Given the description of an element on the screen output the (x, y) to click on. 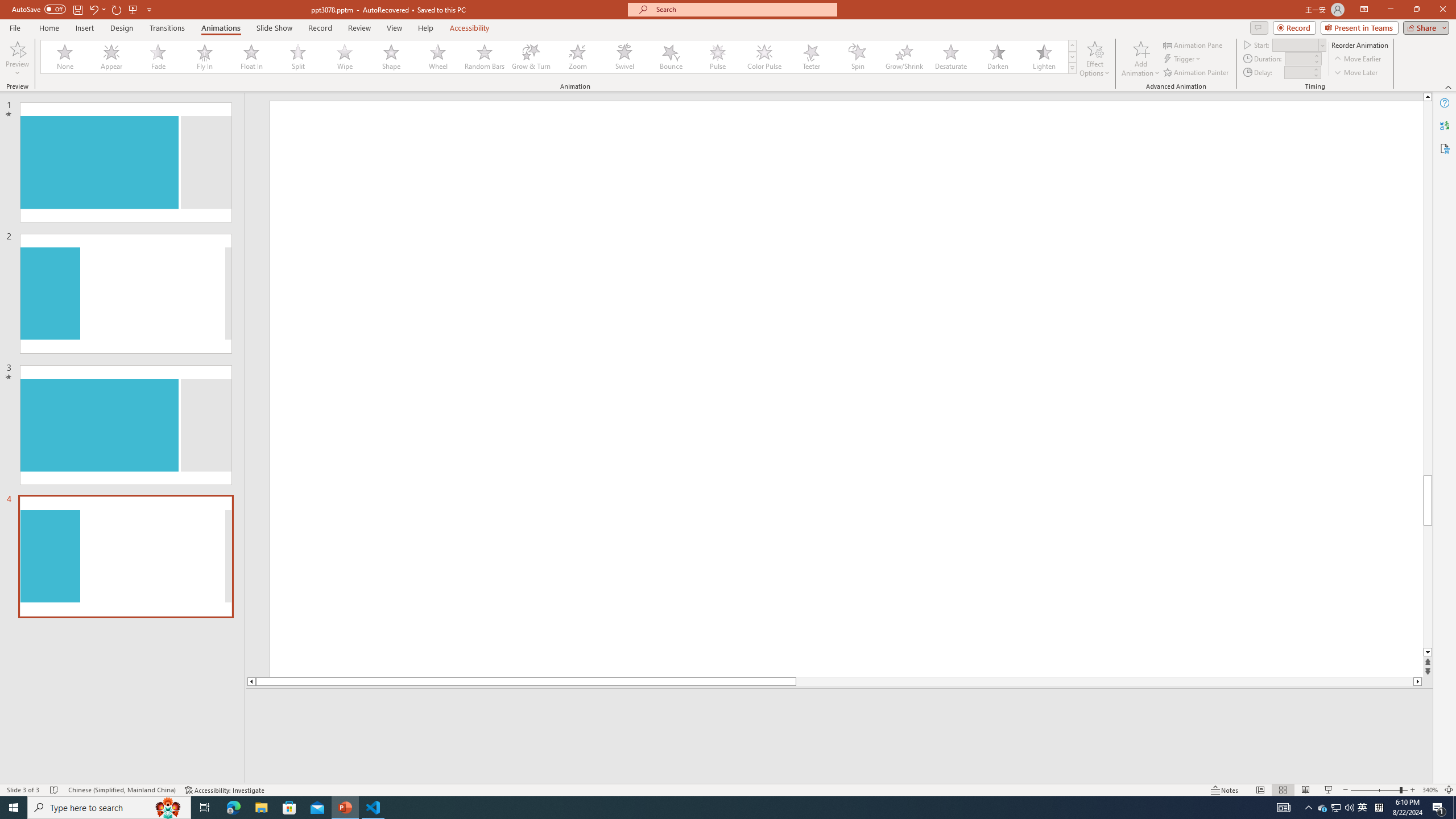
Microsoft search (742, 9)
System (6, 6)
AutoSave (38, 9)
Normal (1260, 790)
Animation Delay (1297, 72)
Fly In (205, 56)
Undo (92, 9)
Zoom (1379, 790)
